Given the description of an element on the screen output the (x, y) to click on. 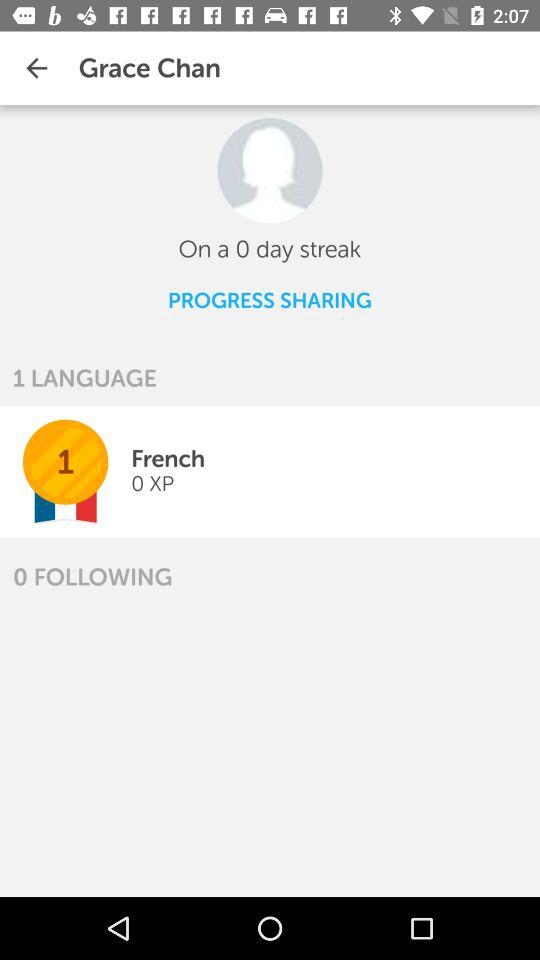
flip to 1 language icon (84, 378)
